Given the description of an element on the screen output the (x, y) to click on. 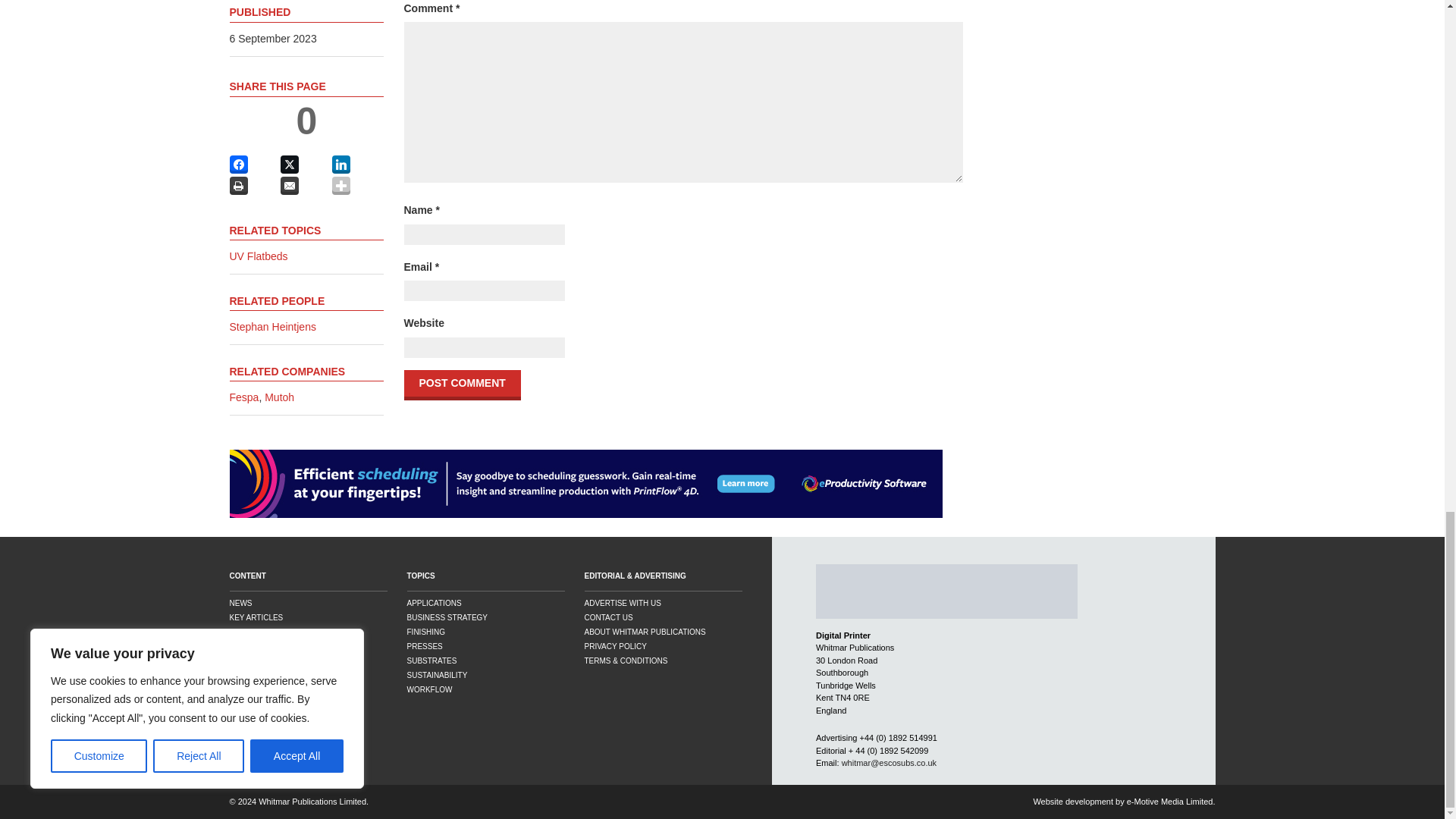
Post Comment (461, 385)
